Given the description of an element on the screen output the (x, y) to click on. 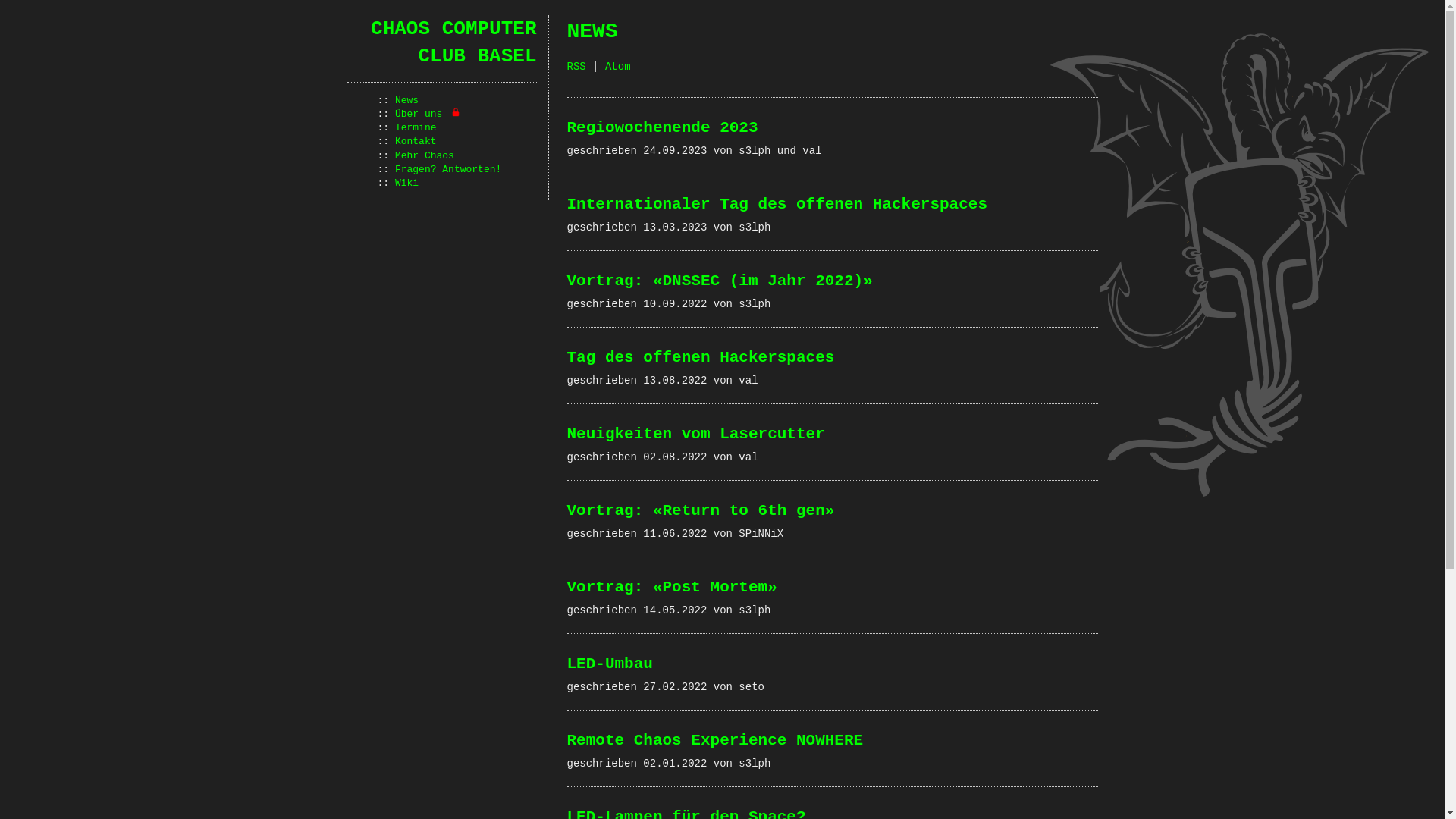
Mehr Chaos Element type: text (424, 155)
Neuigkeiten vom Lasercutter Element type: text (696, 433)
Fragen? Antworten! Element type: text (448, 169)
Termine Element type: text (415, 127)
Wiki Element type: text (406, 182)
CHAOS COMPUTER CLUB BASEL Element type: text (453, 42)
Der Hackerspace ist geschlossen Element type: hover (455, 111)
Internationaler Tag des offenen Hackerspaces Element type: text (777, 204)
Remote Chaos Experience NOWHERE Element type: text (715, 740)
Atom Element type: text (617, 66)
LED-Umbau Element type: text (609, 663)
RSS Element type: text (576, 66)
Kontakt Element type: text (415, 141)
Tag des offenen Hackerspaces Element type: text (700, 357)
NEWS Element type: text (592, 31)
News Element type: text (406, 100)
Regiowochenende 2023 Element type: text (662, 127)
